Given the description of an element on the screen output the (x, y) to click on. 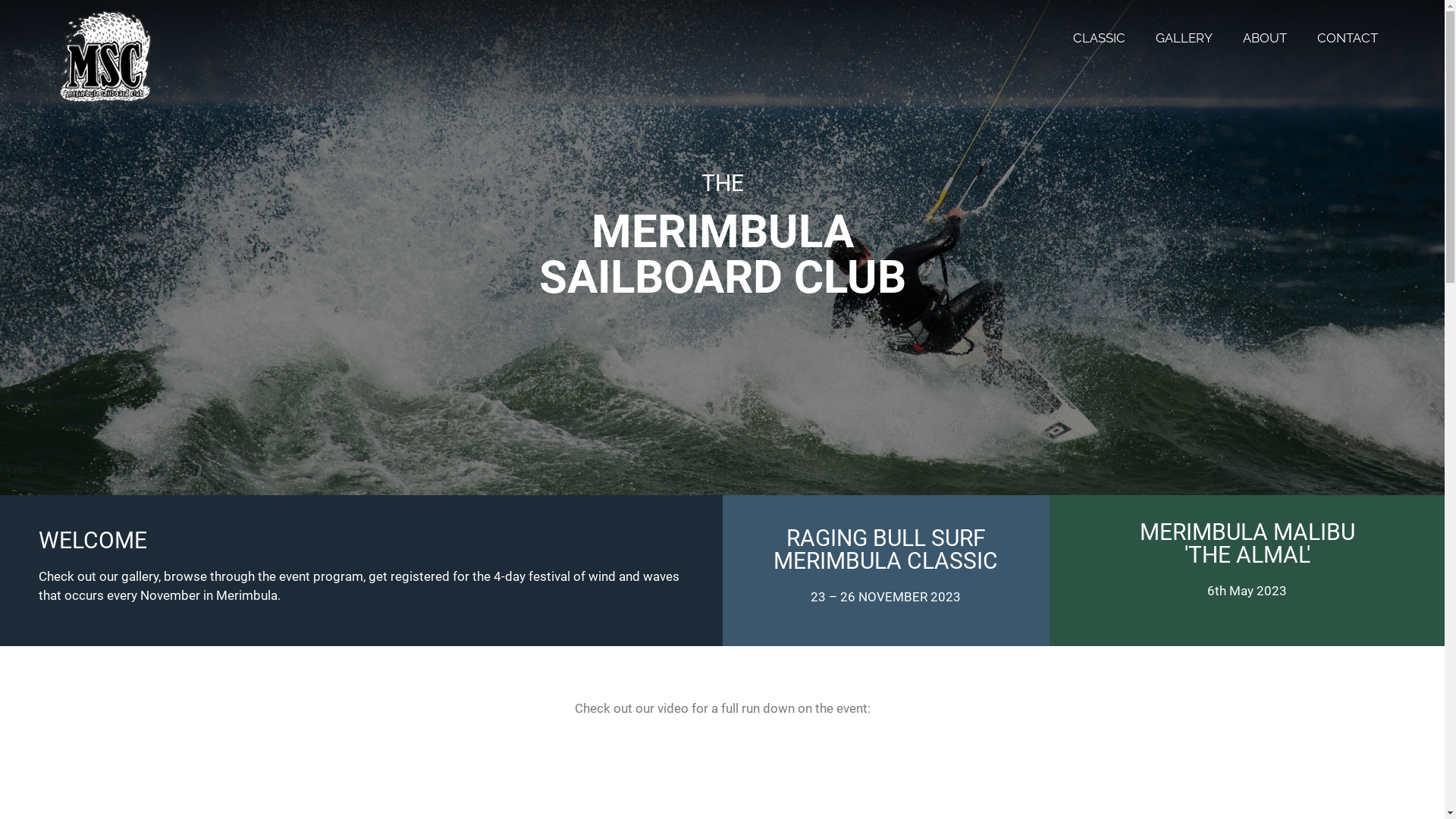
RAGING BULL SURF
MERIMBULA CLASSIC Element type: text (885, 549)
MERIMBULA MALIBU
'THE ALMAL' Element type: text (1247, 542)
CLASSIC Element type: text (1098, 37)
CONTACT Element type: text (1347, 37)
GALLERY Element type: text (1183, 37)
ABOUT Element type: text (1264, 37)
